Given the description of an element on the screen output the (x, y) to click on. 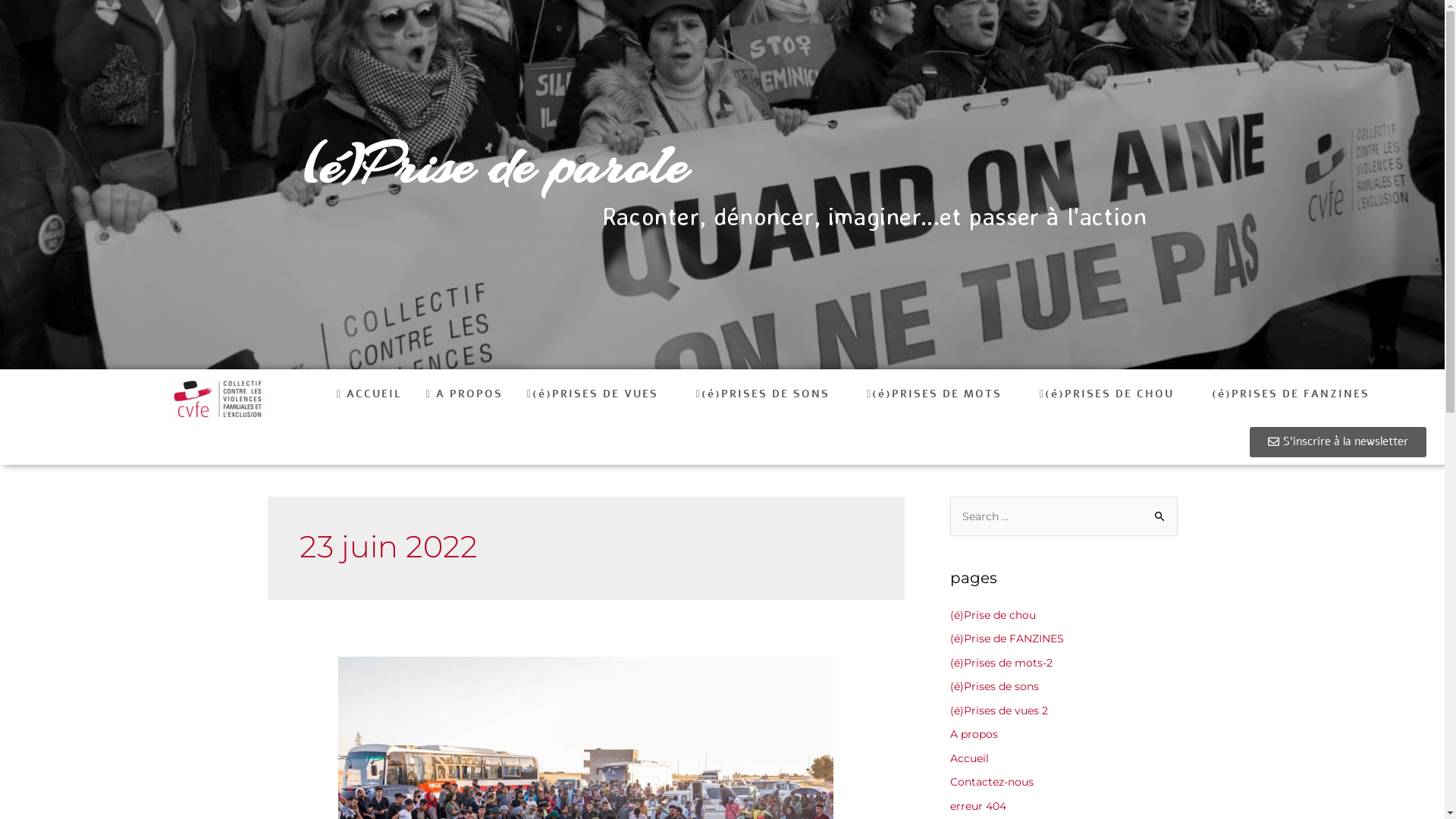
Contactez-nous Element type: text (990, 781)
erreur 404 Element type: text (977, 805)
Accueil Element type: text (968, 758)
A propos Element type: text (973, 733)
ACCUEIL Element type: text (369, 393)
Search Element type: text (1160, 516)
logo-cvfe Element type: hover (217, 398)
A PROPOS Element type: text (464, 393)
